Given the description of an element on the screen output the (x, y) to click on. 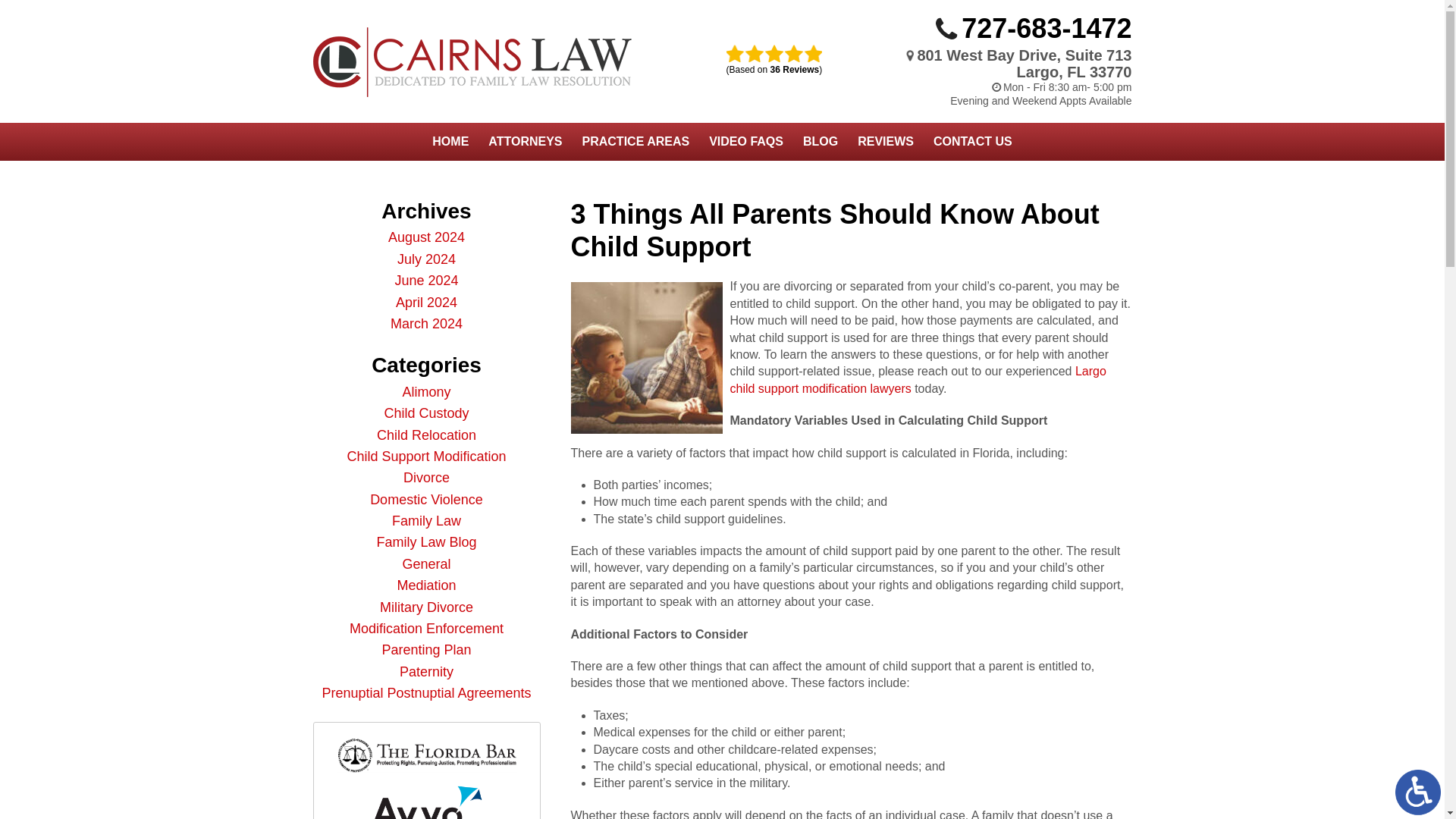
HOME (450, 141)
ATTORNEYS (525, 141)
Avvo (426, 801)
The Florida Bar (426, 755)
MomDaughter6 (646, 357)
Cairns Law (471, 62)
727-683-1472 (1045, 28)
PRACTICE AREAS (636, 141)
